Given the description of an element on the screen output the (x, y) to click on. 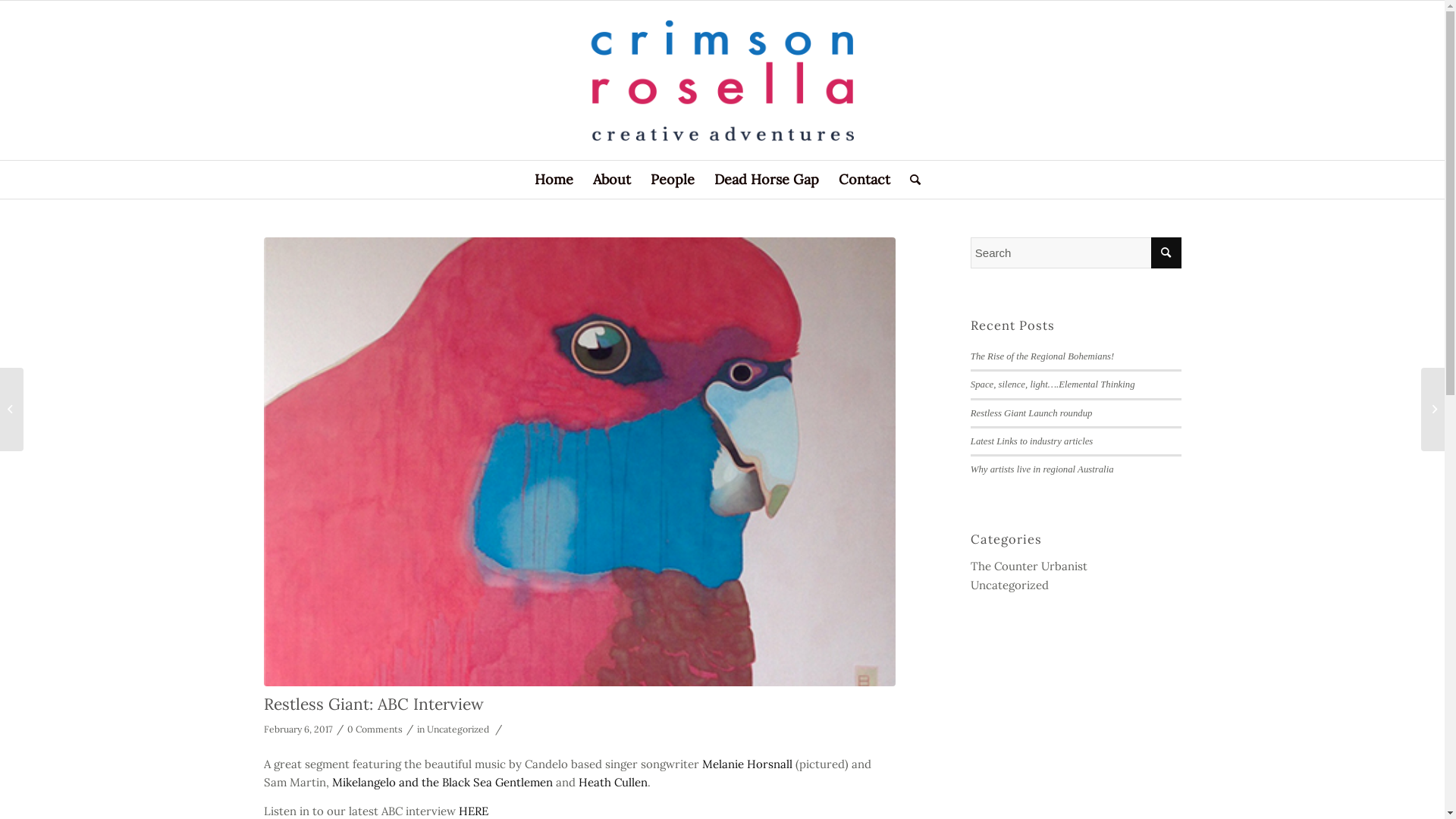
Uncategorized Element type: text (1009, 584)
0 Comments Element type: text (374, 728)
Restless Giant: ABC Interview Element type: text (373, 703)
Melanie Horsnall Element type: text (747, 763)
HERE Element type: text (472, 810)
The Counter Urbanist Element type: text (1028, 565)
Home Element type: text (553, 179)
Mikelangelo and the Black Sea Gentlemen Element type: text (442, 782)
Dead Horse Gap Element type: text (765, 179)
About Element type: text (611, 179)
Latest Links to industry articles Element type: text (1031, 441)
Contact Element type: text (863, 179)
Restless Giant Launch roundup Element type: text (1031, 412)
People Element type: text (671, 179)
logo-ver2 Element type: hover (721, 80)
Uncategorized Element type: text (457, 728)
Why artists live in regional Australia Element type: text (1041, 469)
Matt Chun Element type: hover (579, 461)
Heath Cullen Element type: text (611, 782)
The Rise of the Regional Bohemians! Element type: text (1041, 356)
